Given the description of an element on the screen output the (x, y) to click on. 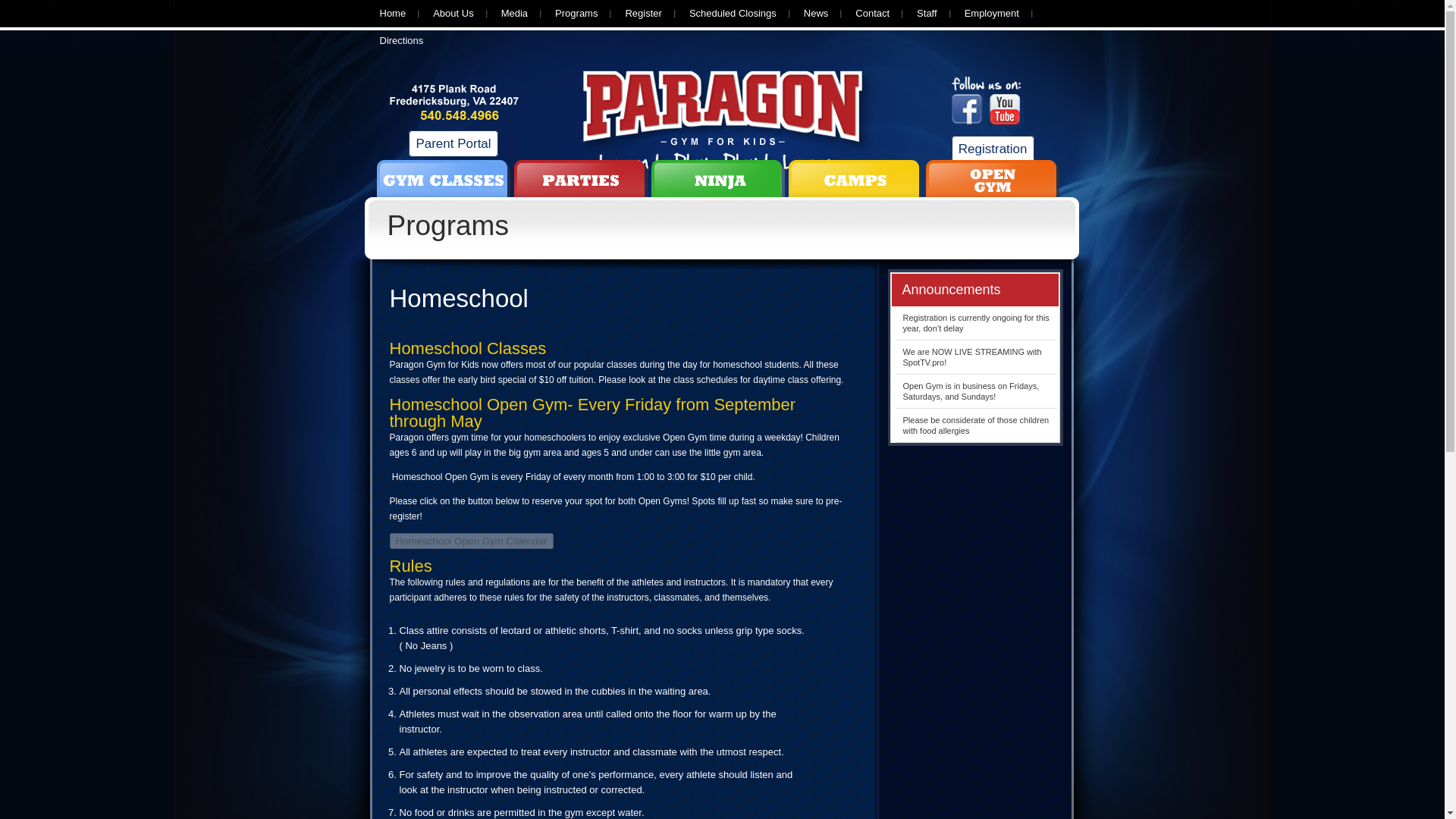
Homeschool Open Gym Calendar (471, 540)
Media (513, 13)
Programs (575, 13)
About Us (452, 13)
Home (392, 13)
